Given the description of an element on the screen output the (x, y) to click on. 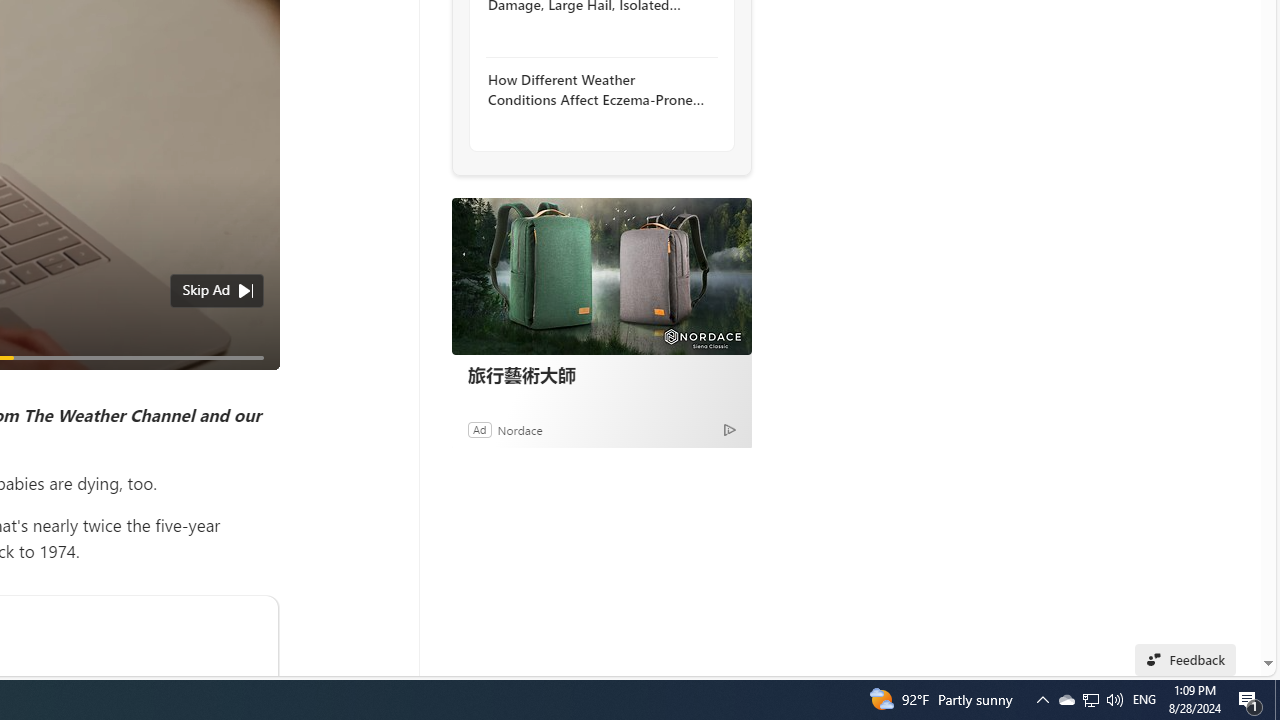
Feedback (1185, 659)
Skip Ad (205, 290)
Ad (479, 429)
Nordace (519, 429)
Unmute (253, 381)
Ad Choice (729, 429)
How Different Weather Conditions Affect Eczema-Prone Skin (596, 89)
